Given the description of an element on the screen output the (x, y) to click on. 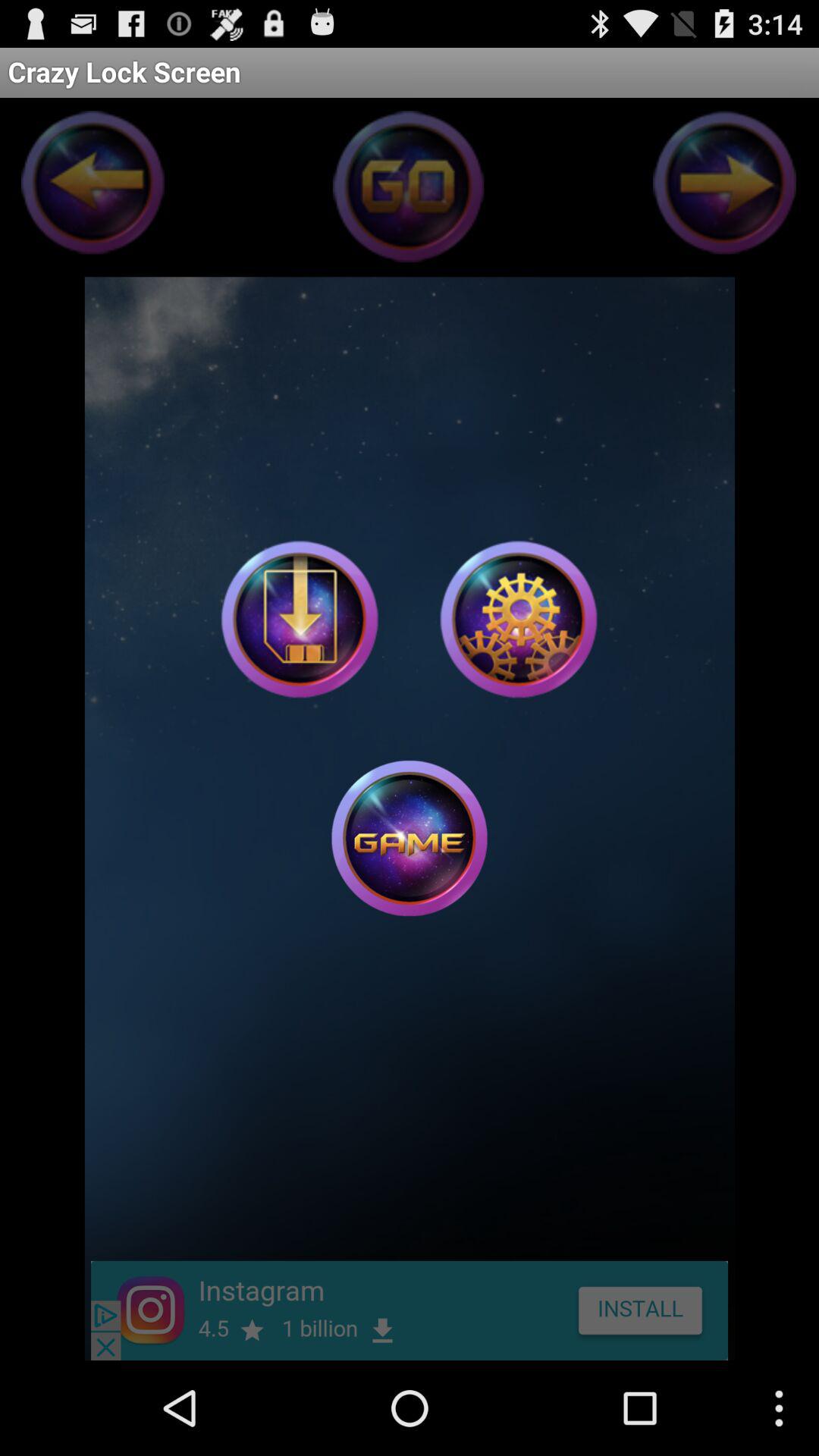
download the image (299, 618)
